Given the description of an element on the screen output the (x, y) to click on. 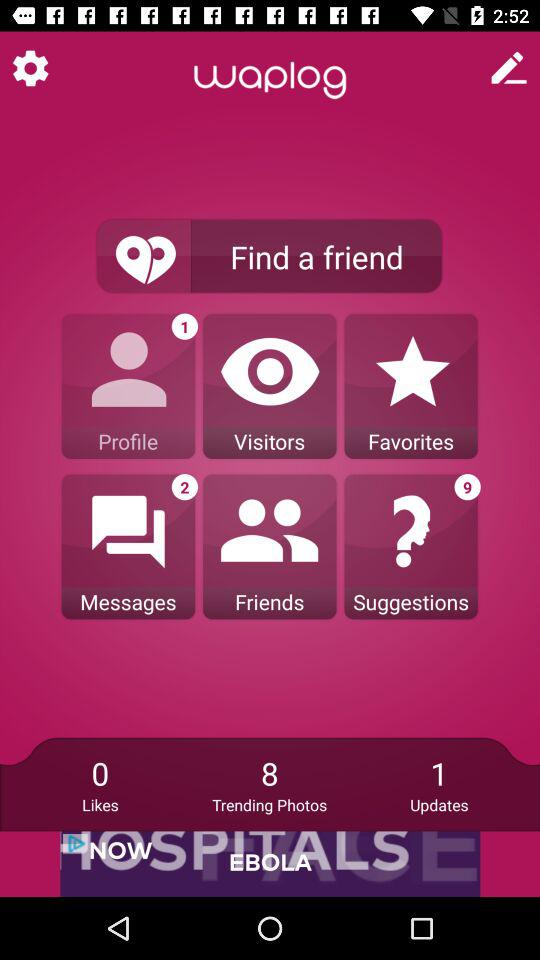
switch to app setting (30, 68)
